Given the description of an element on the screen output the (x, y) to click on. 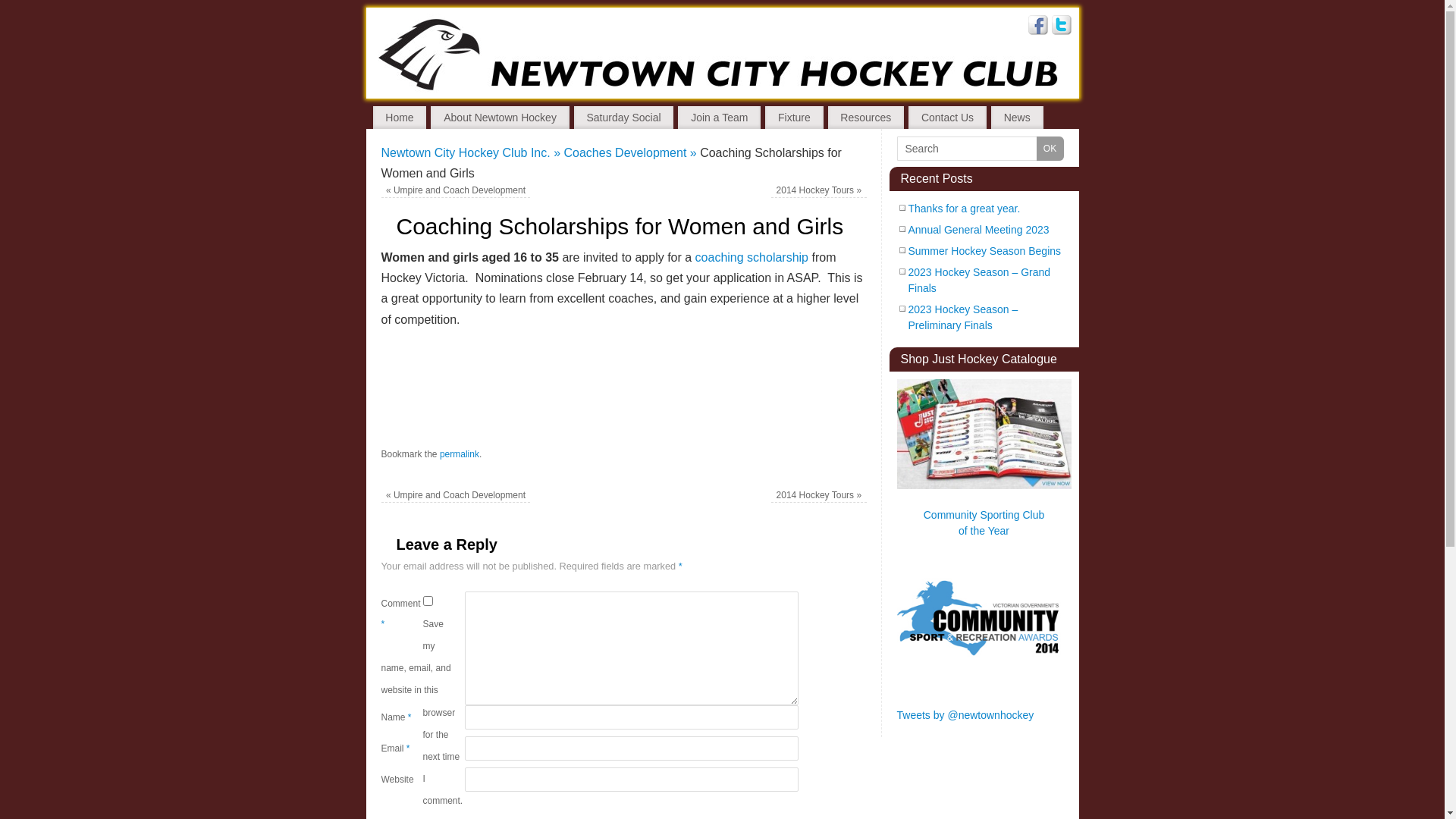
News Element type: text (1017, 117)
Community Sporting Club
of the Year Element type: text (983, 522)
Summer Hockey Season Begins Element type: text (984, 250)
Join a Team Element type: text (718, 117)
permalink Element type: text (459, 453)
Tweets by @newtownhockey Element type: text (964, 715)
Saturday Social Element type: text (624, 117)
OK Element type: text (1049, 148)
Thanks for a great year. Element type: text (964, 208)
Contact Us Element type: text (947, 117)
coaching scholarship Element type: text (751, 257)
Resources Element type: text (866, 117)
Home Element type: text (399, 117)
About Newtown Hockey Element type: text (499, 117)
Annual General Meeting 2023 Element type: text (978, 229)
Twitter Element type: hover (1060, 26)
Facebook Element type: hover (1038, 26)
Fixture Element type: text (793, 117)
